Given the description of an element on the screen output the (x, y) to click on. 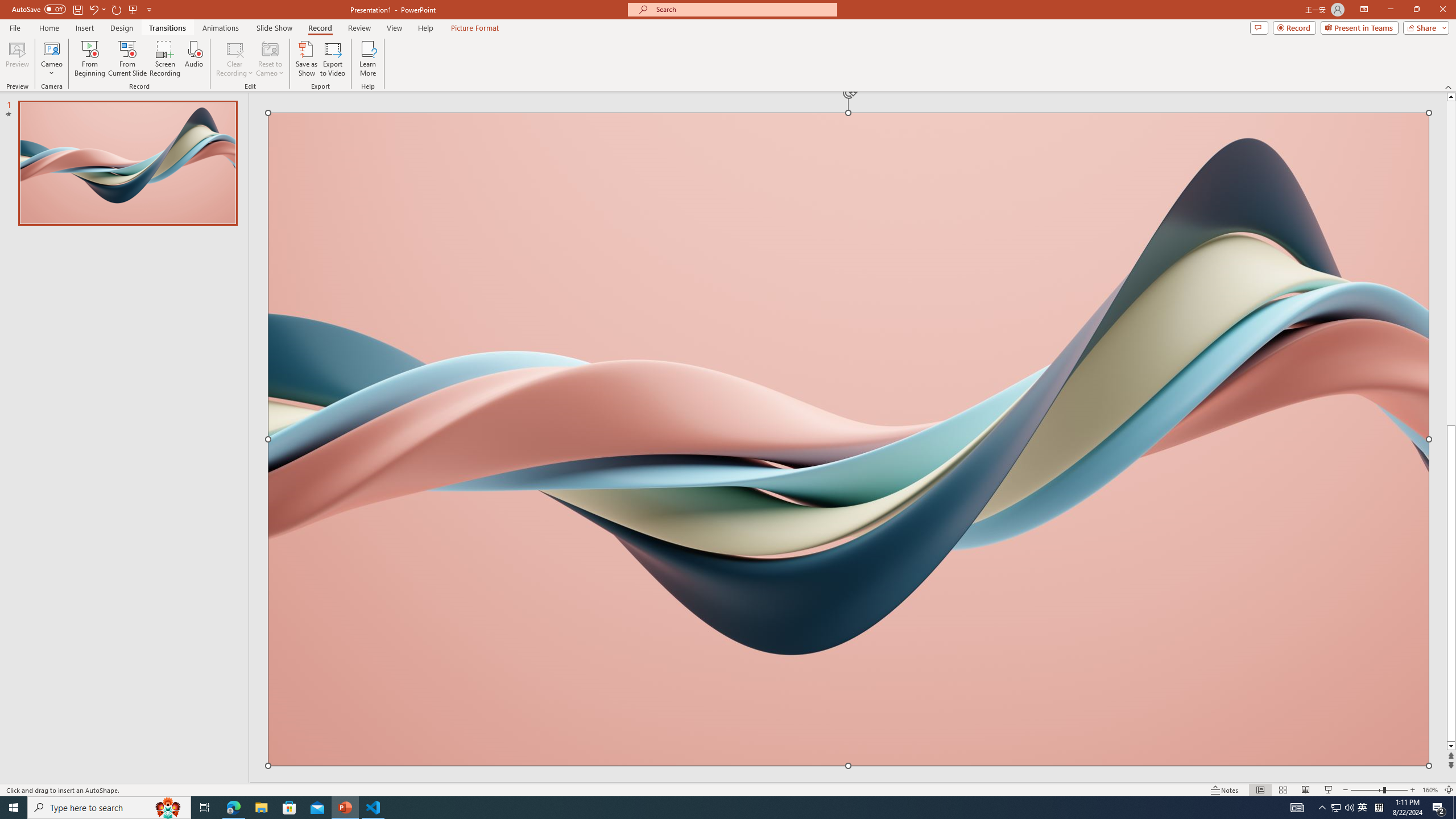
Wavy 3D art (847, 439)
